Given the description of an element on the screen output the (x, y) to click on. 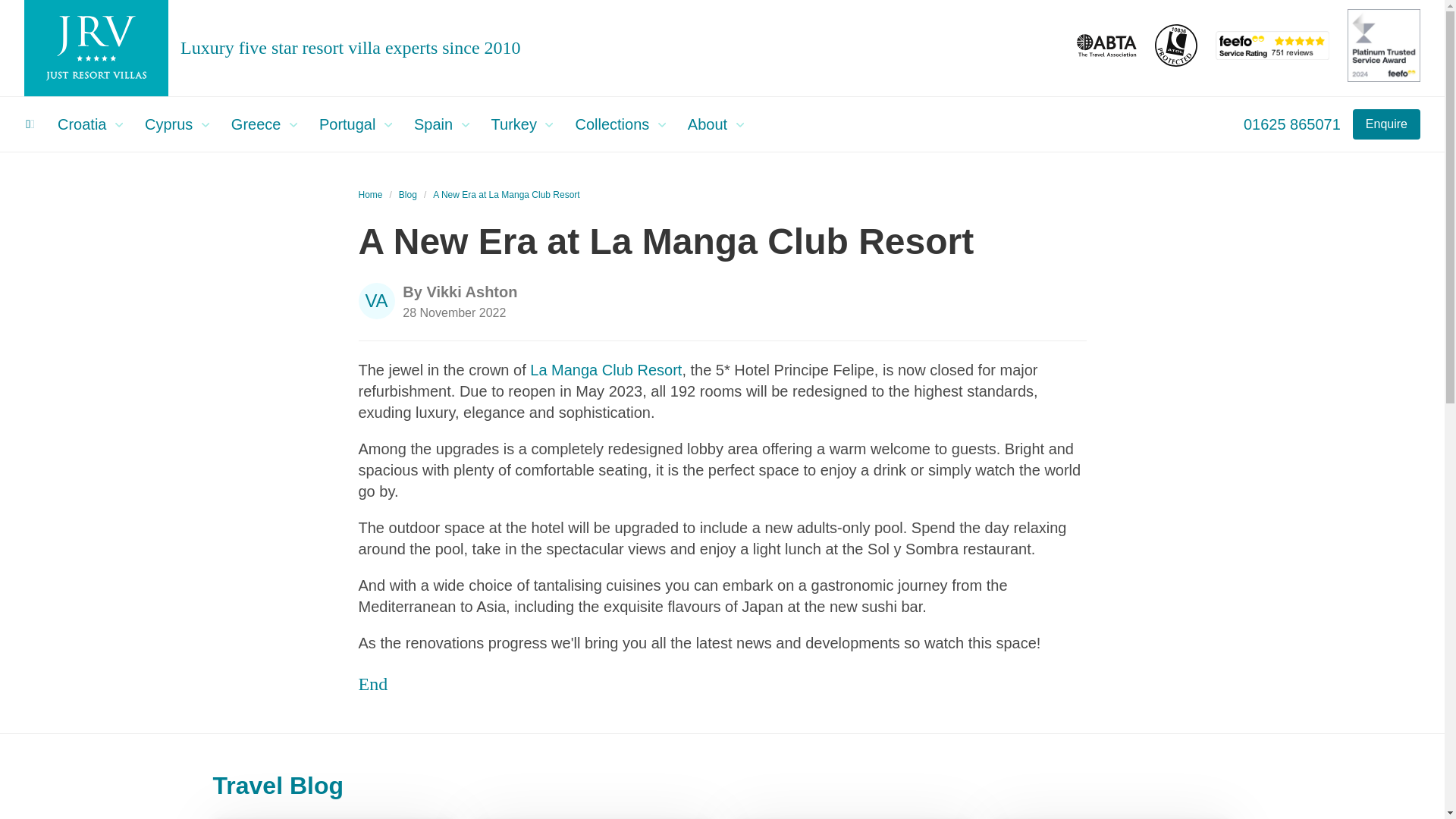
See what our customers say about us (1272, 55)
Greece (269, 124)
Croatia (94, 124)
Portugal (360, 124)
Cyprus (181, 124)
